Given the description of an element on the screen output the (x, y) to click on. 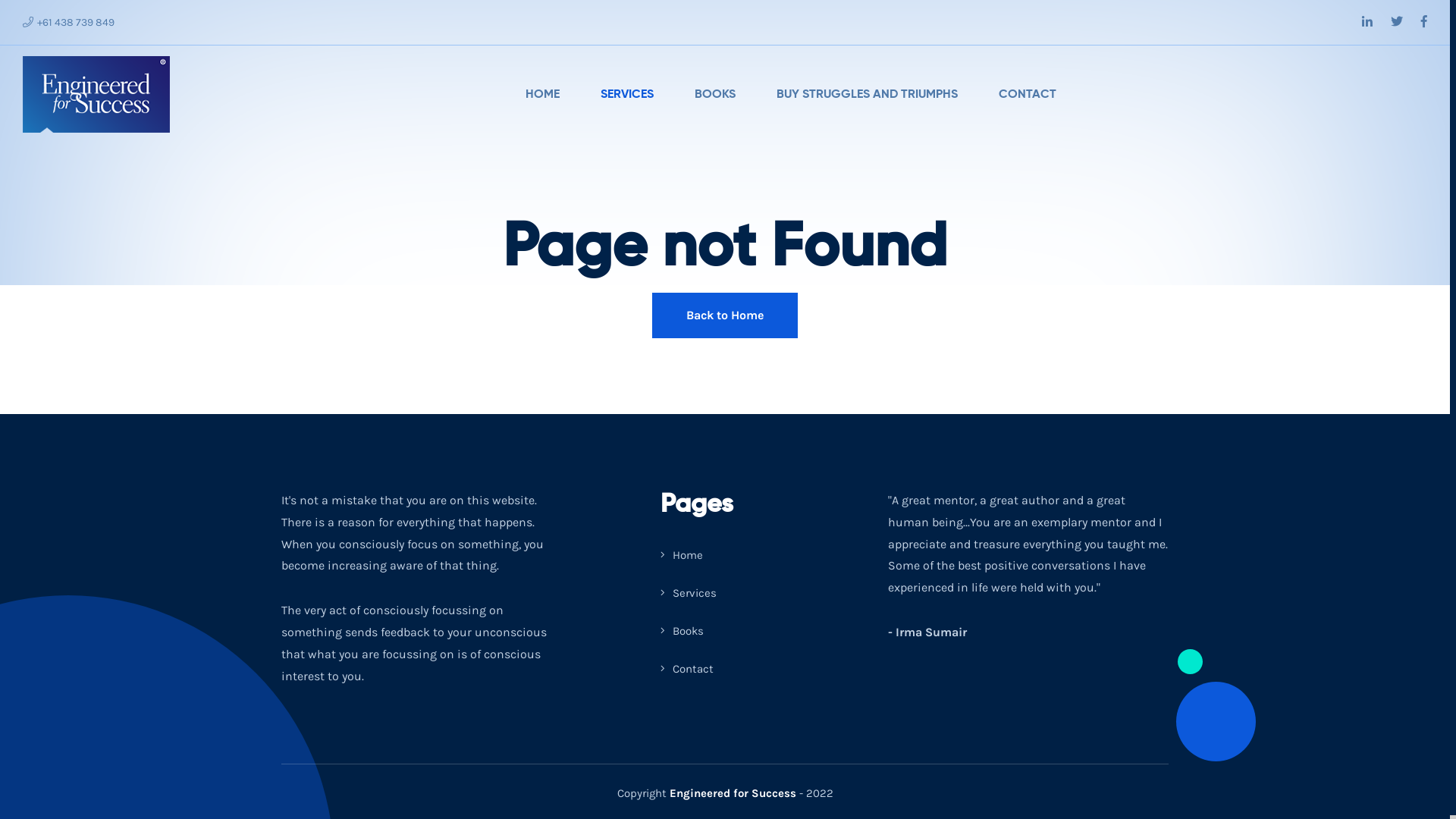
SERVICES Element type: text (627, 94)
BUY STRUGGLES AND TRIUMPHS Element type: text (866, 94)
Services Element type: text (688, 592)
Back to Home Element type: text (724, 315)
Home Element type: text (681, 555)
HOME Element type: text (542, 94)
CONTACT Element type: text (1027, 94)
Engineered for Success Element type: text (731, 793)
Books Element type: text (681, 630)
BOOKS Element type: text (715, 94)
+61 438 739 849 Element type: text (68, 21)
Contact Element type: text (686, 668)
